Given the description of an element on the screen output the (x, y) to click on. 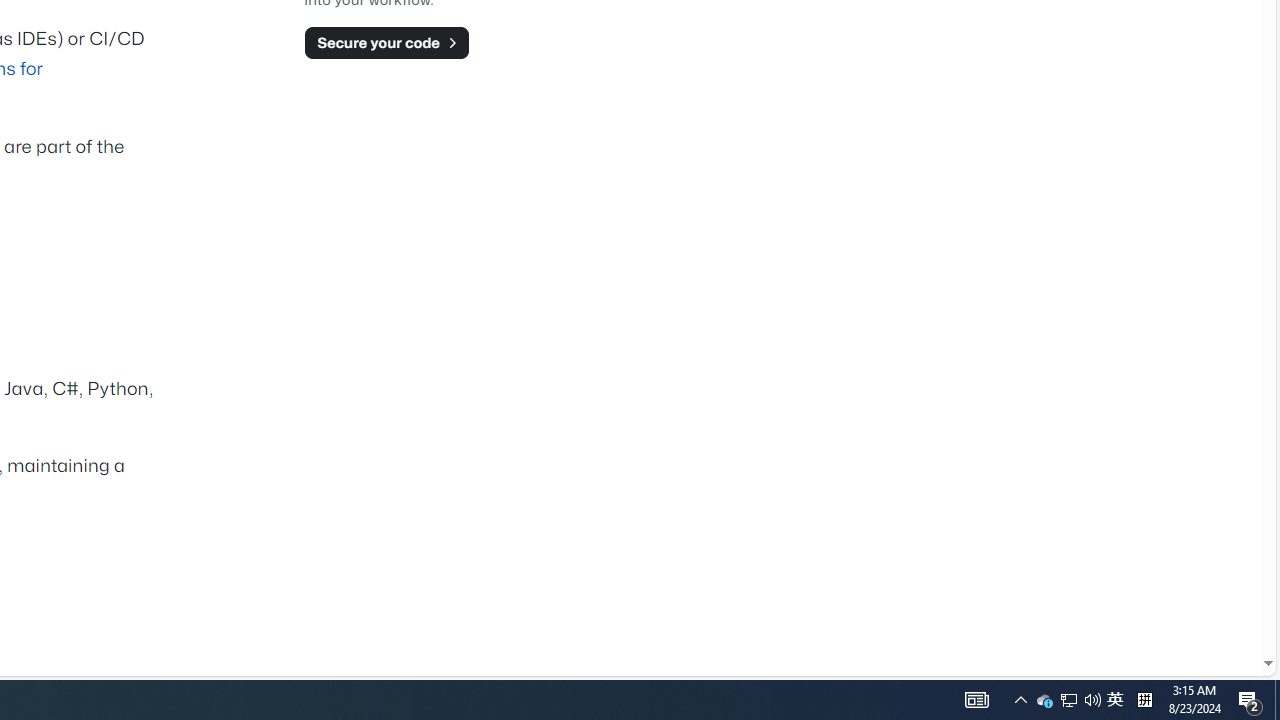
Secure your code (386, 42)
